Given the description of an element on the screen output the (x, y) to click on. 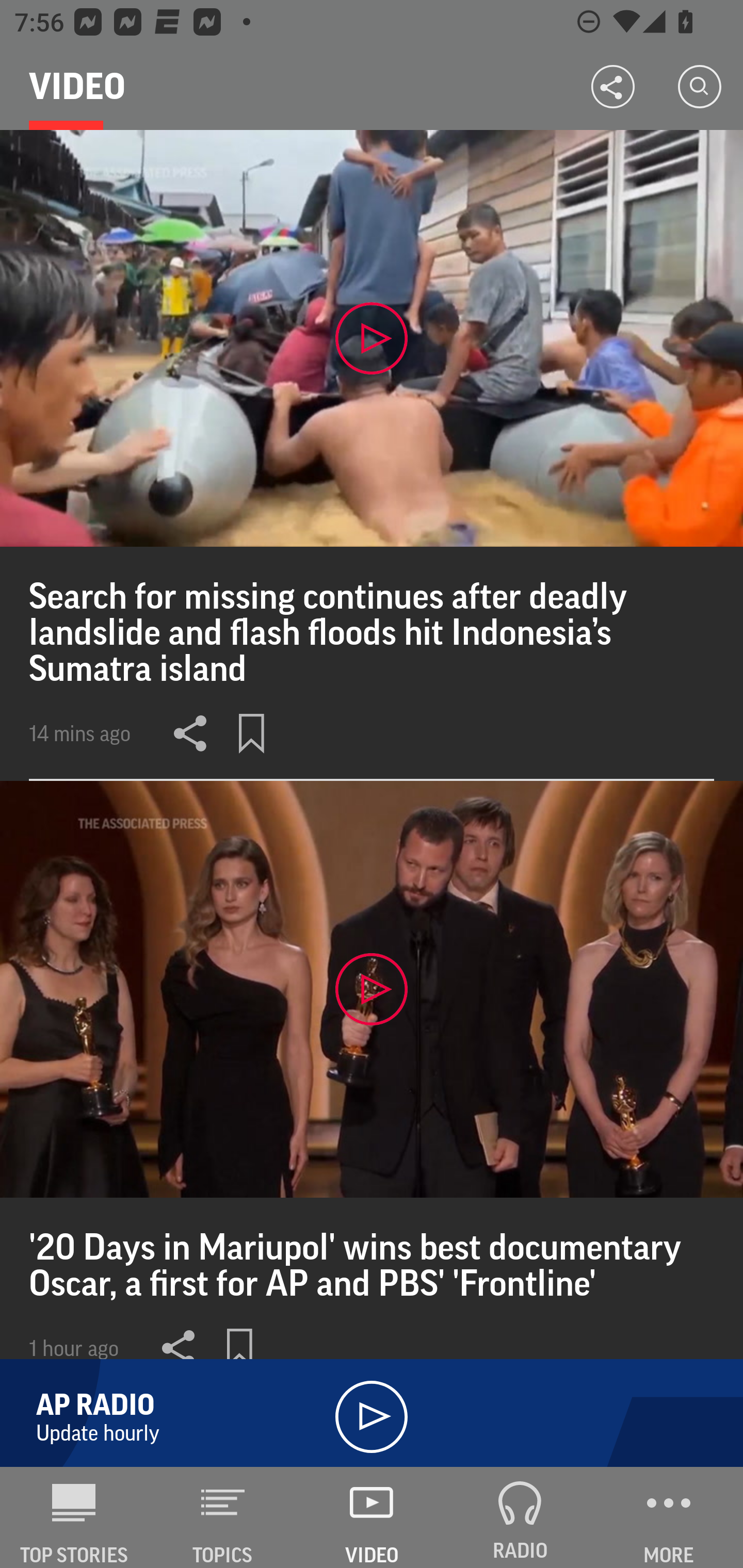
AP News TOP STORIES (74, 1517)
TOPICS (222, 1517)
VIDEO (371, 1517)
RADIO (519, 1517)
MORE (668, 1517)
